Given the description of an element on the screen output the (x, y) to click on. 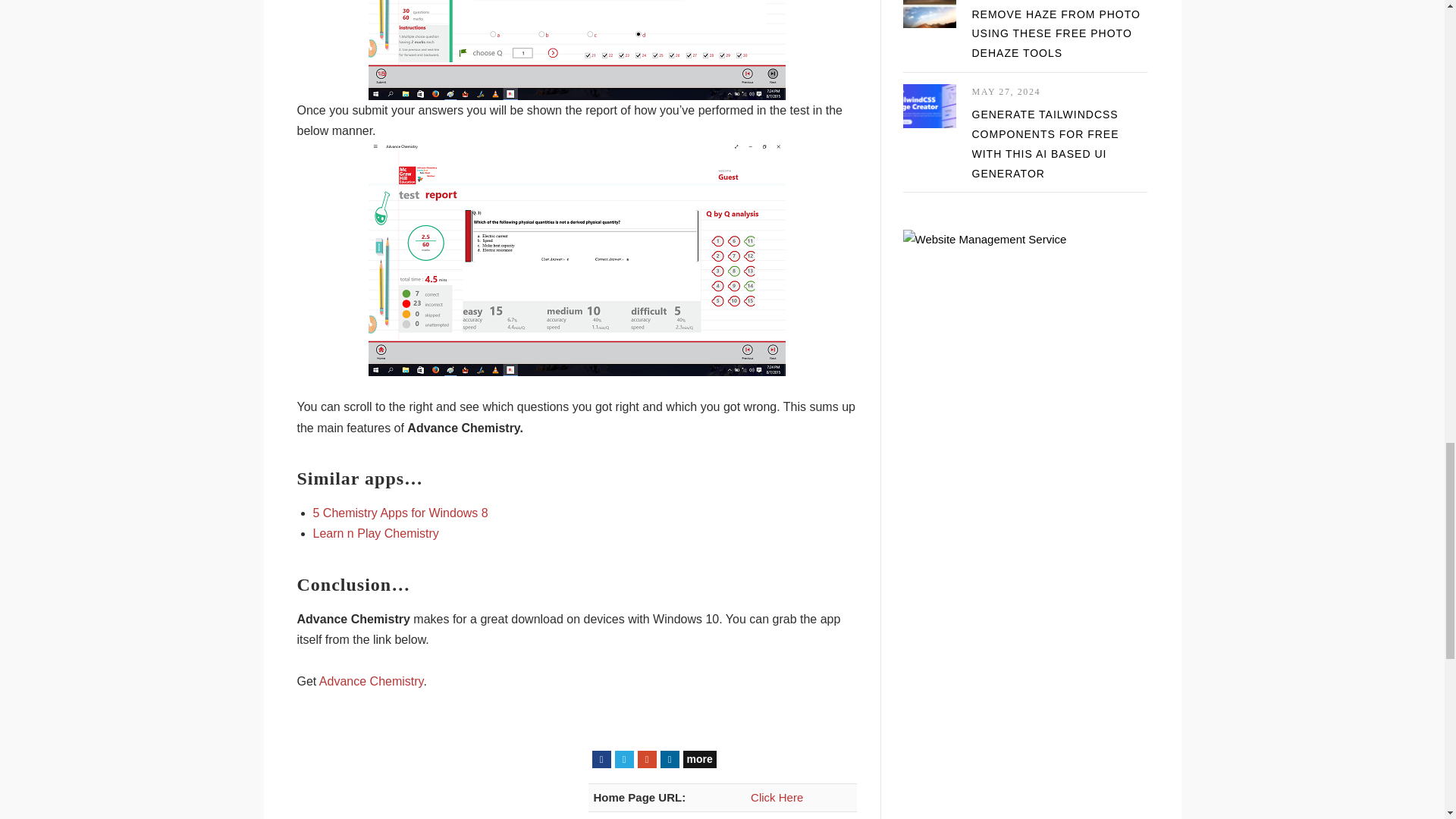
Tweet It (623, 759)
Advance Chemistry score (577, 258)
Read more about 5 Chemistry Apps for Windows 8. (400, 512)
Read more about Learn n Play Chemistry. (375, 533)
Share on LinkedIn (668, 759)
Get Advance Chemistry. (370, 680)
Share on Facebook (600, 759)
Advance Chemistry test complete (577, 49)
5 Chemistry Apps for Windows 8 (400, 512)
